Given the description of an element on the screen output the (x, y) to click on. 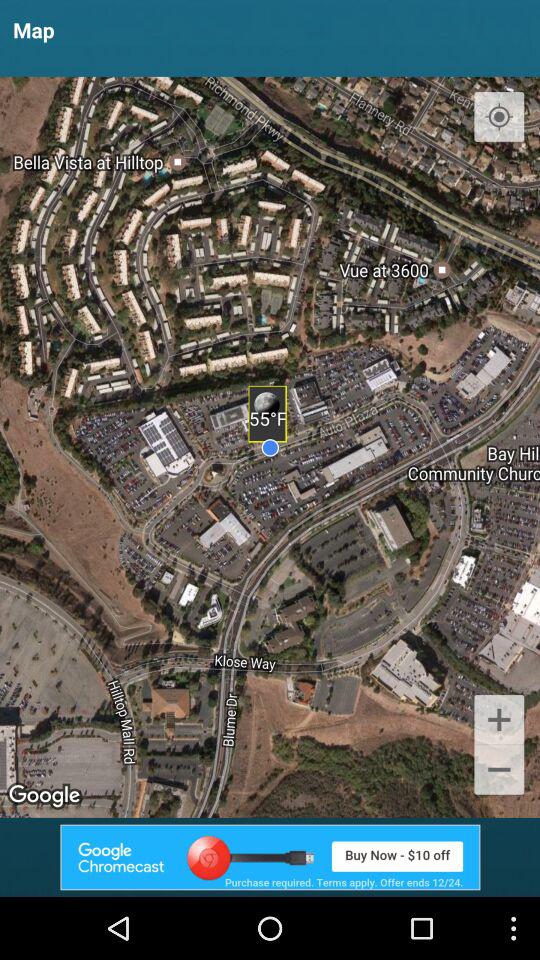
select advertisement (270, 857)
